Given the description of an element on the screen output the (x, y) to click on. 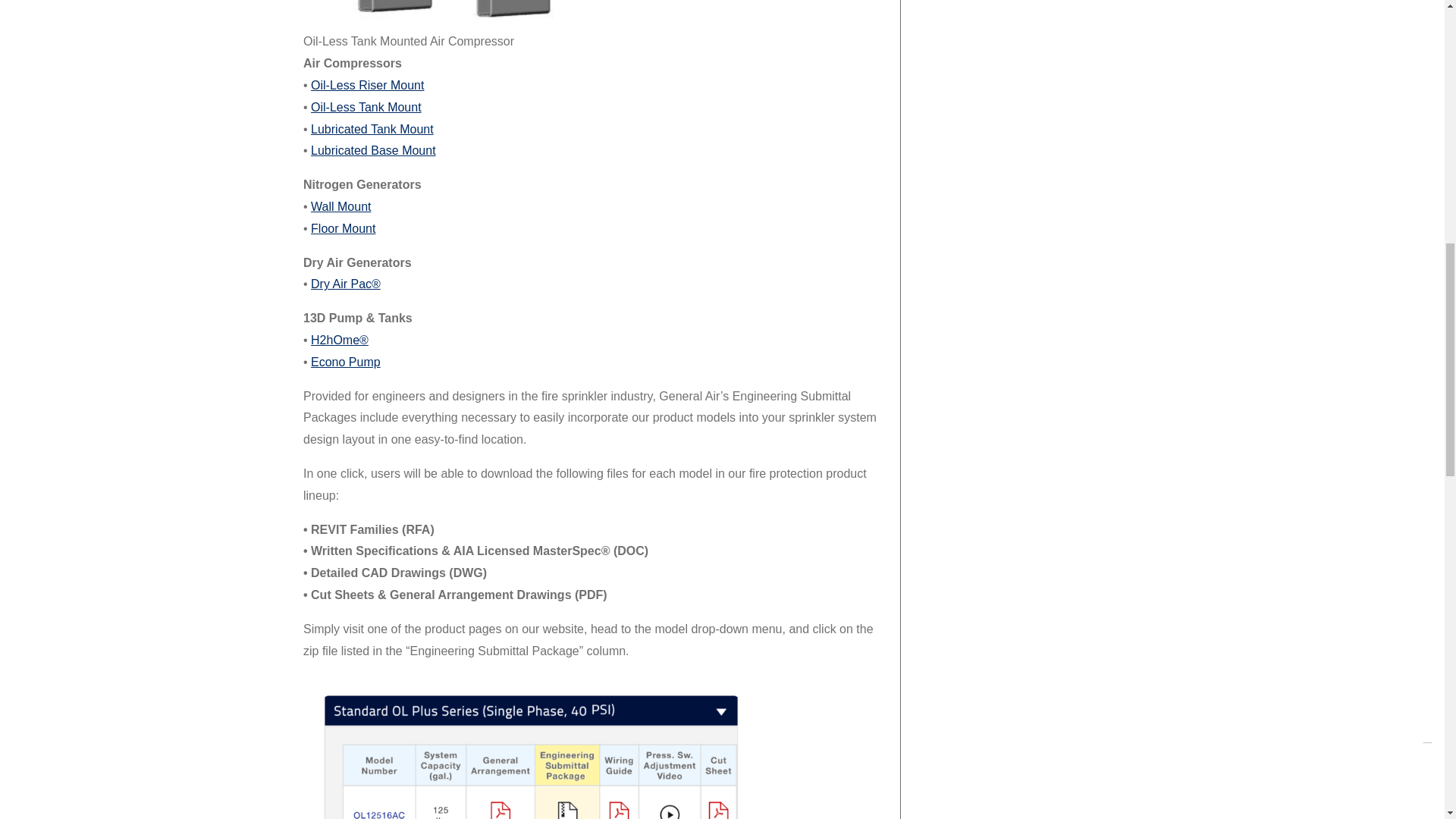
Oil-Less Riser Mount (367, 84)
Lubricated Tank Mount (372, 128)
Oil-Less Tank Mount (366, 106)
